Given the description of an element on the screen output the (x, y) to click on. 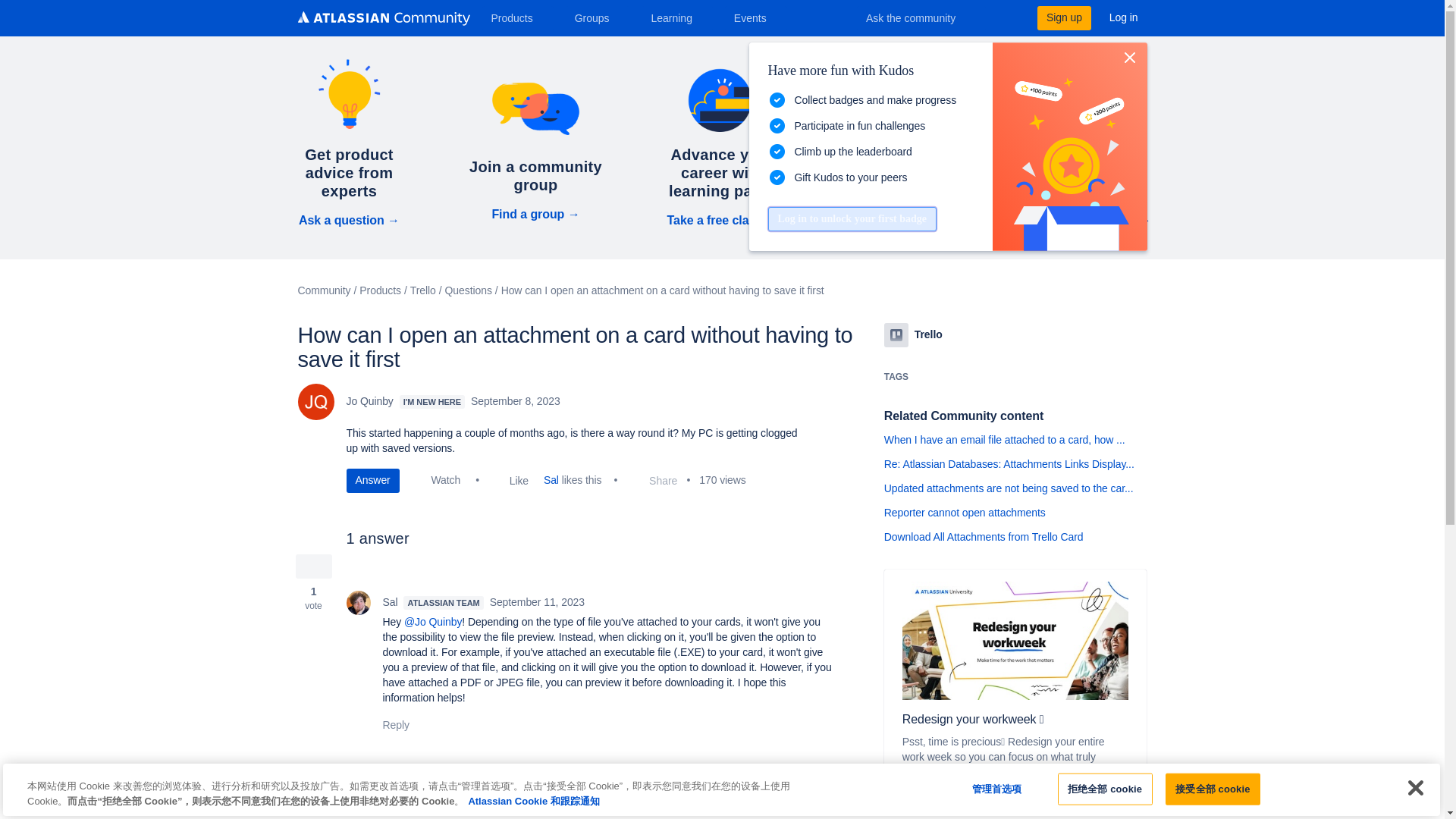
Atlassian Community logo (382, 18)
Trello (895, 334)
Events (756, 17)
Sal (357, 602)
Log in (1123, 17)
Sign up (1063, 17)
Learning (676, 17)
Jo Quinby (315, 402)
Groups (598, 17)
Products (517, 17)
